Given the description of an element on the screen output the (x, y) to click on. 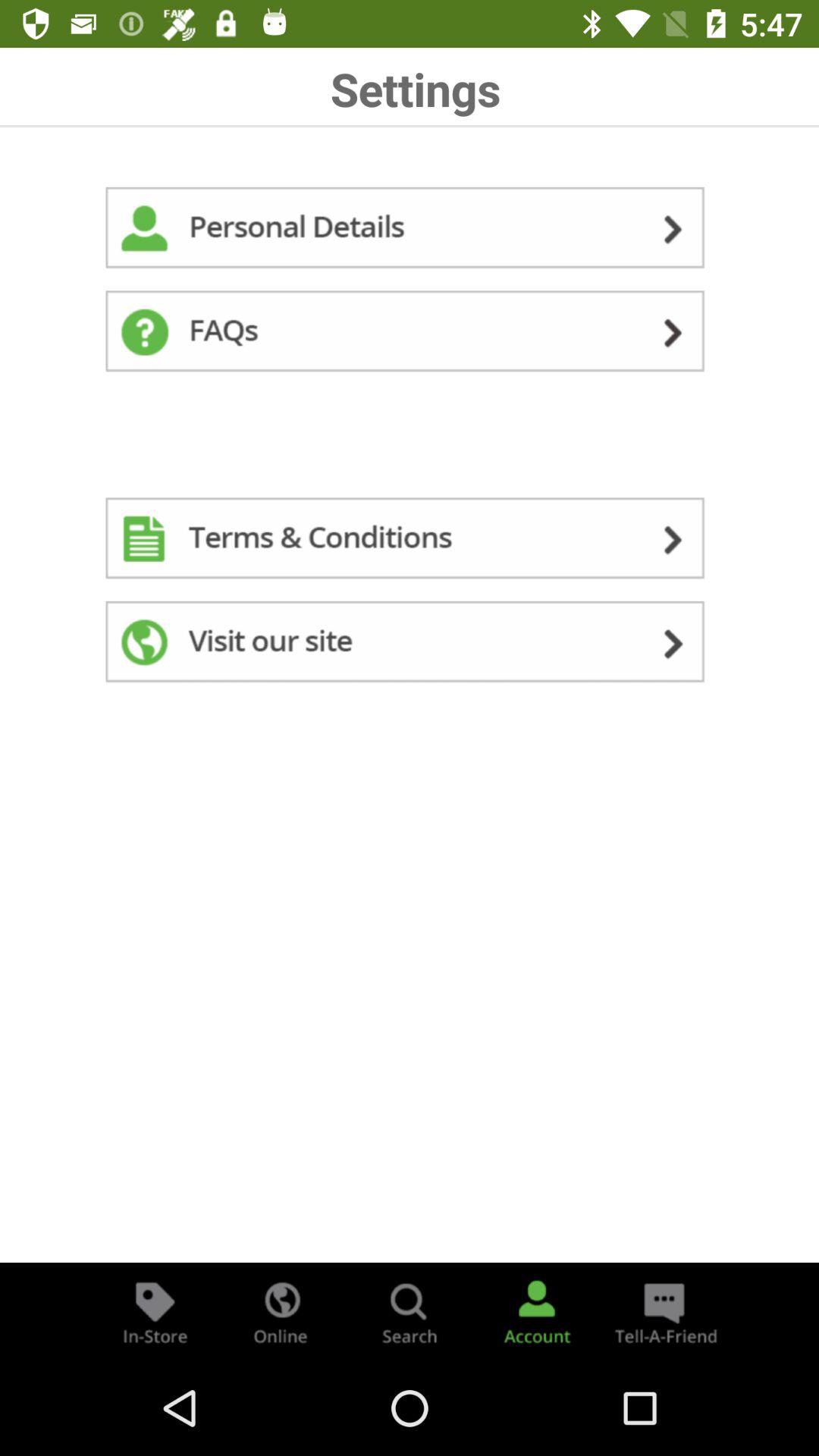
visit website (409, 644)
